Given the description of an element on the screen output the (x, y) to click on. 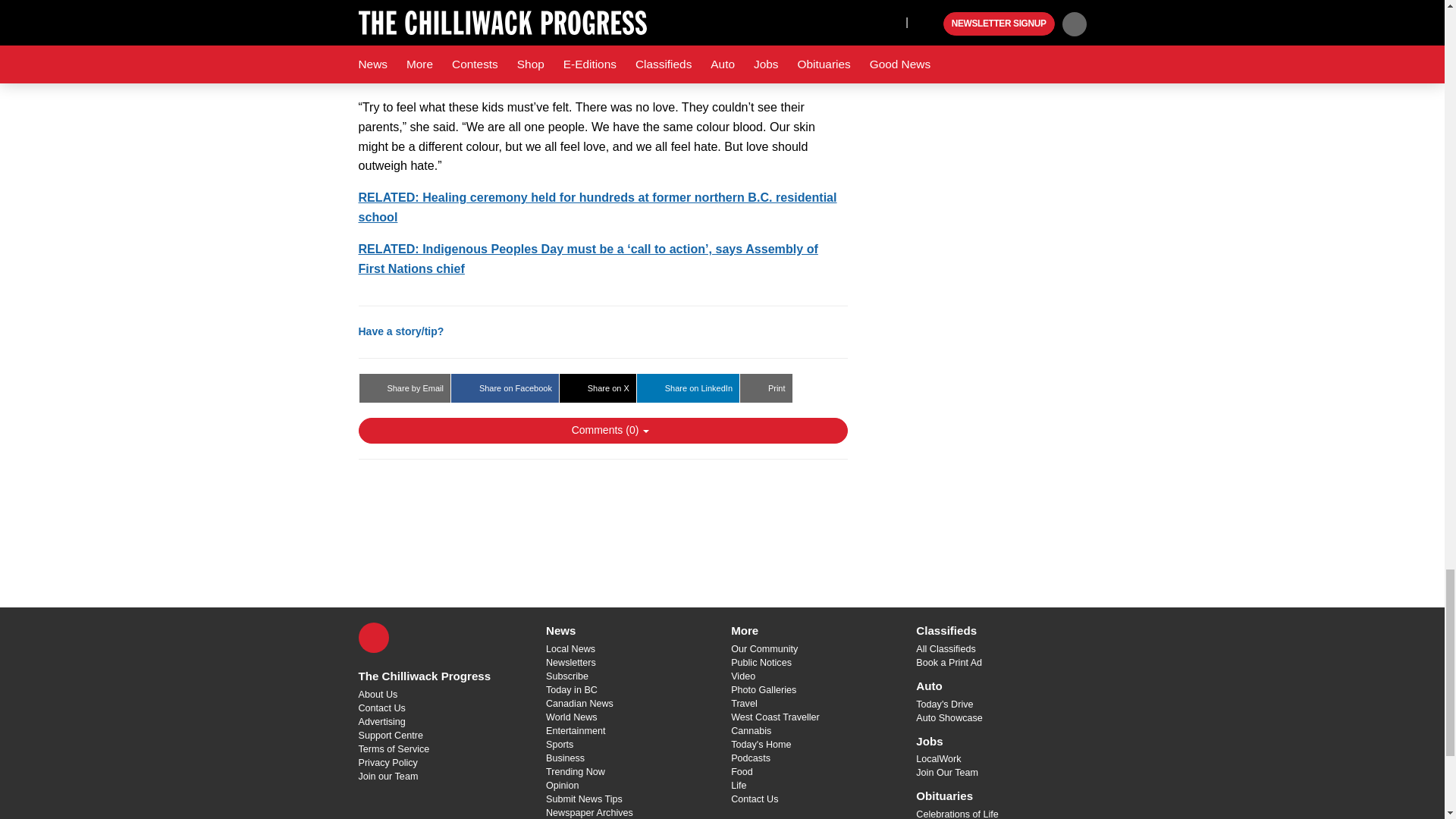
Show Comments (602, 430)
related story (587, 258)
related story (596, 206)
X (373, 637)
